Given the description of an element on the screen output the (x, y) to click on. 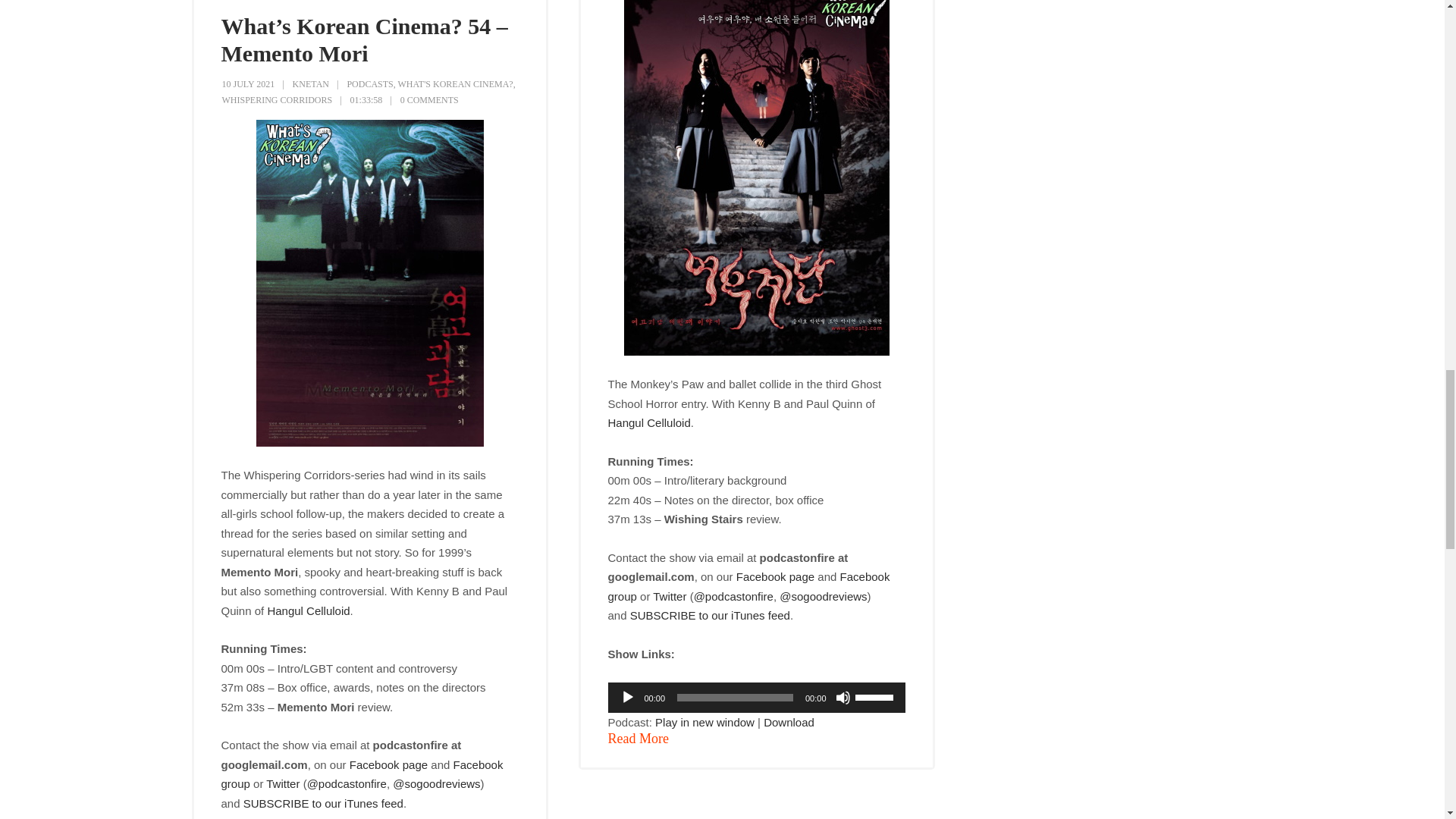
Play (627, 697)
Mute (842, 697)
Play in new window (704, 721)
Download (787, 721)
